Given the description of an element on the screen output the (x, y) to click on. 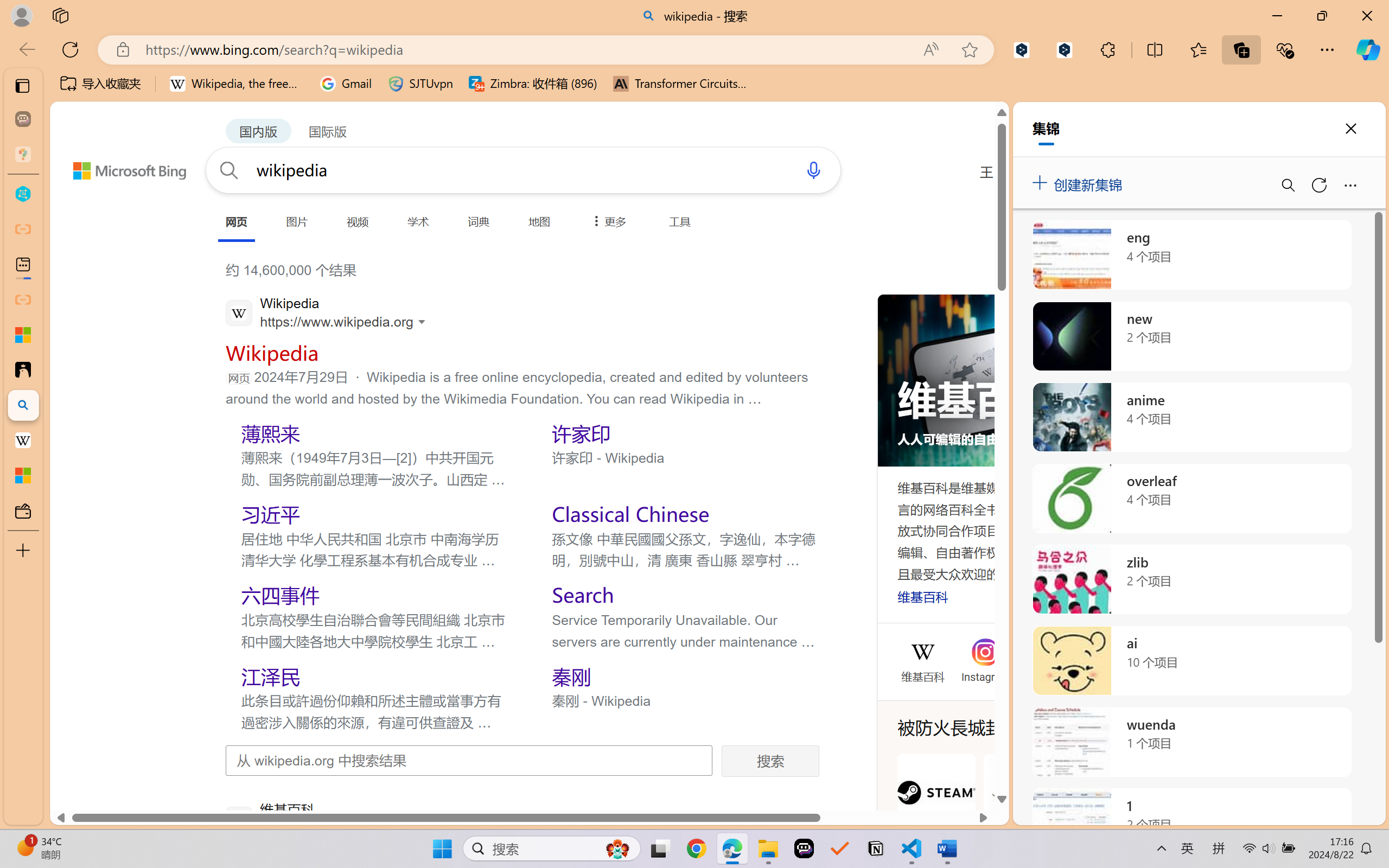
Instagram (985, 674)
Steam (936, 805)
Steam (936, 805)
